Given the description of an element on the screen output the (x, y) to click on. 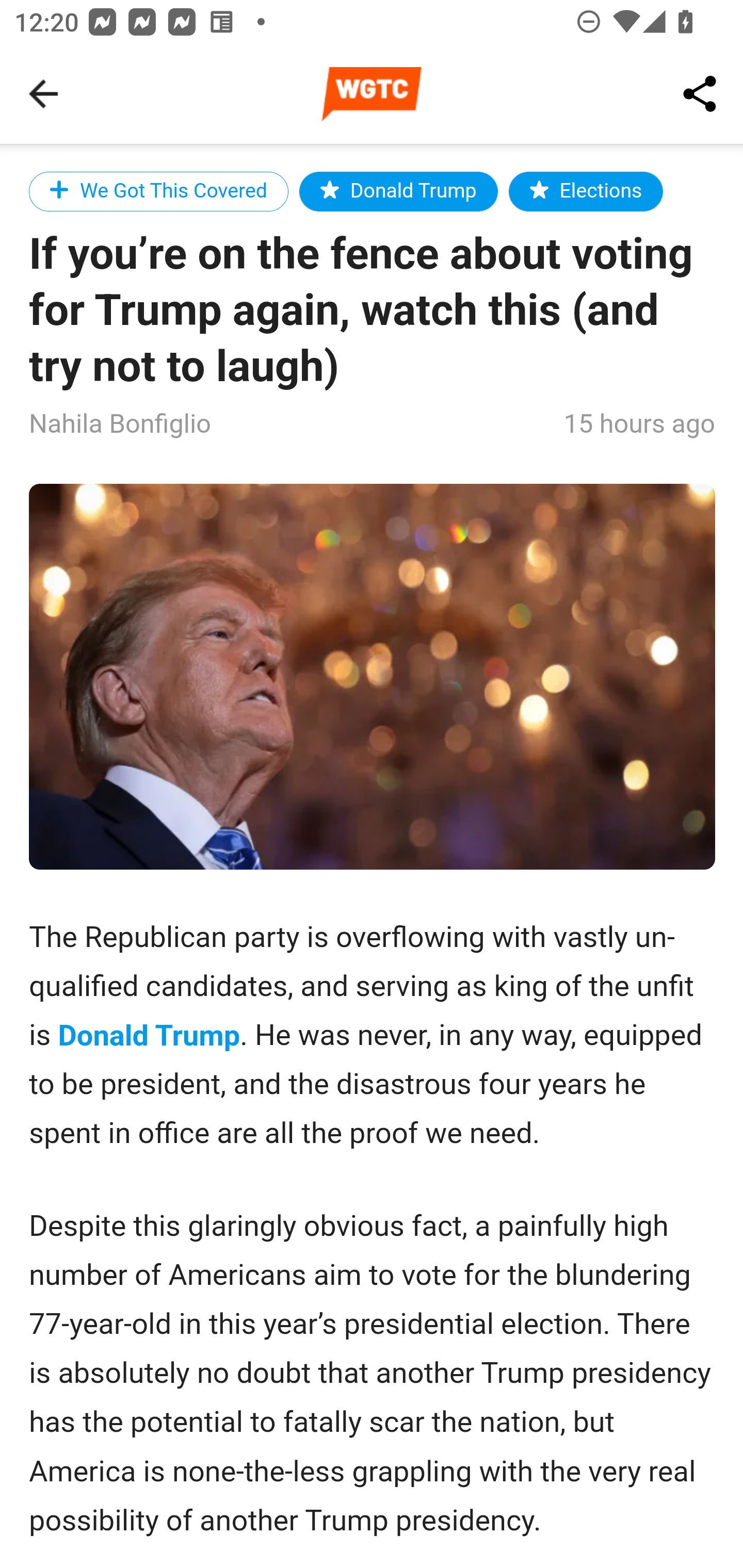
We Got This Covered (158, 191)
Donald Trump (397, 191)
Elections (585, 191)
Donald Trump (149, 1035)
